Given the description of an element on the screen output the (x, y) to click on. 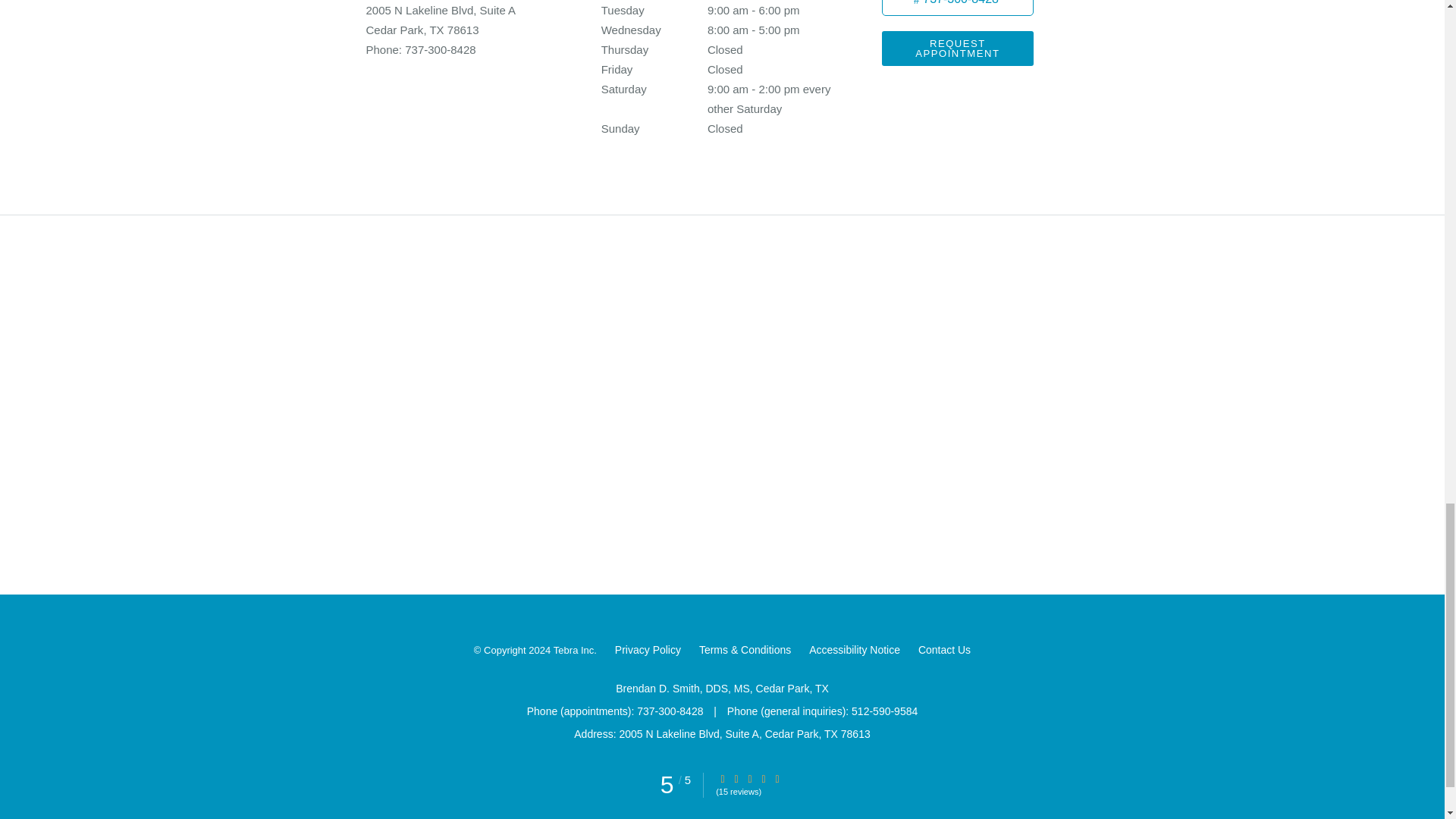
Star Rating (777, 778)
Star Rating (763, 778)
Star Rating (735, 778)
Star Rating (749, 778)
Star Rating (722, 778)
